Given the description of an element on the screen output the (x, y) to click on. 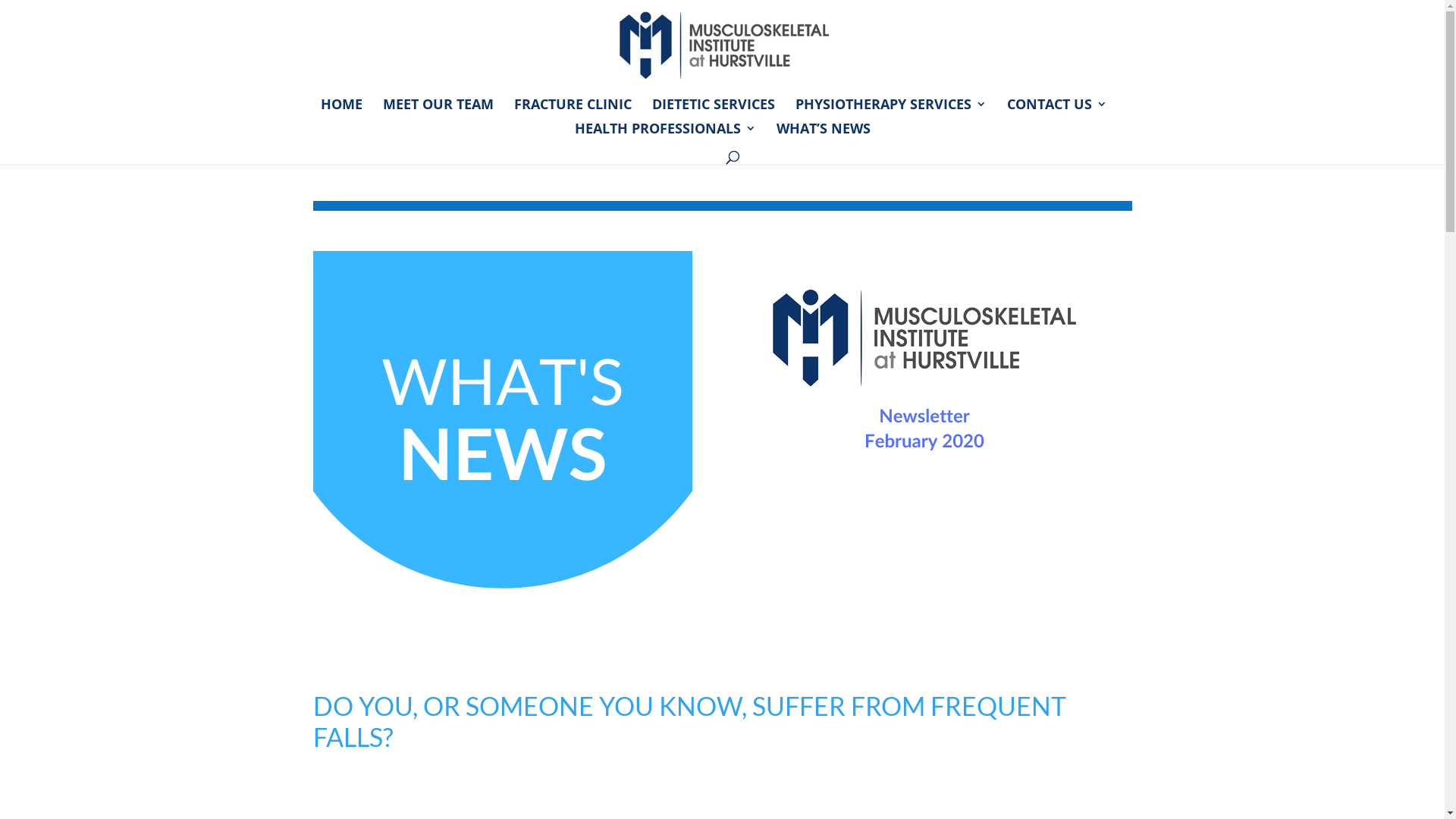
DIETETIC SERVICES Element type: text (713, 110)
FRACTURE CLINIC Element type: text (572, 110)
MEET OUR TEAM Element type: text (437, 110)
HOME Element type: text (341, 110)
HEALTH PROFESSIONALS Element type: text (665, 134)
CONTACT US Element type: text (1057, 110)
PHYSIOTHERAPY SERVICES Element type: text (890, 110)
